Given the description of an element on the screen output the (x, y) to click on. 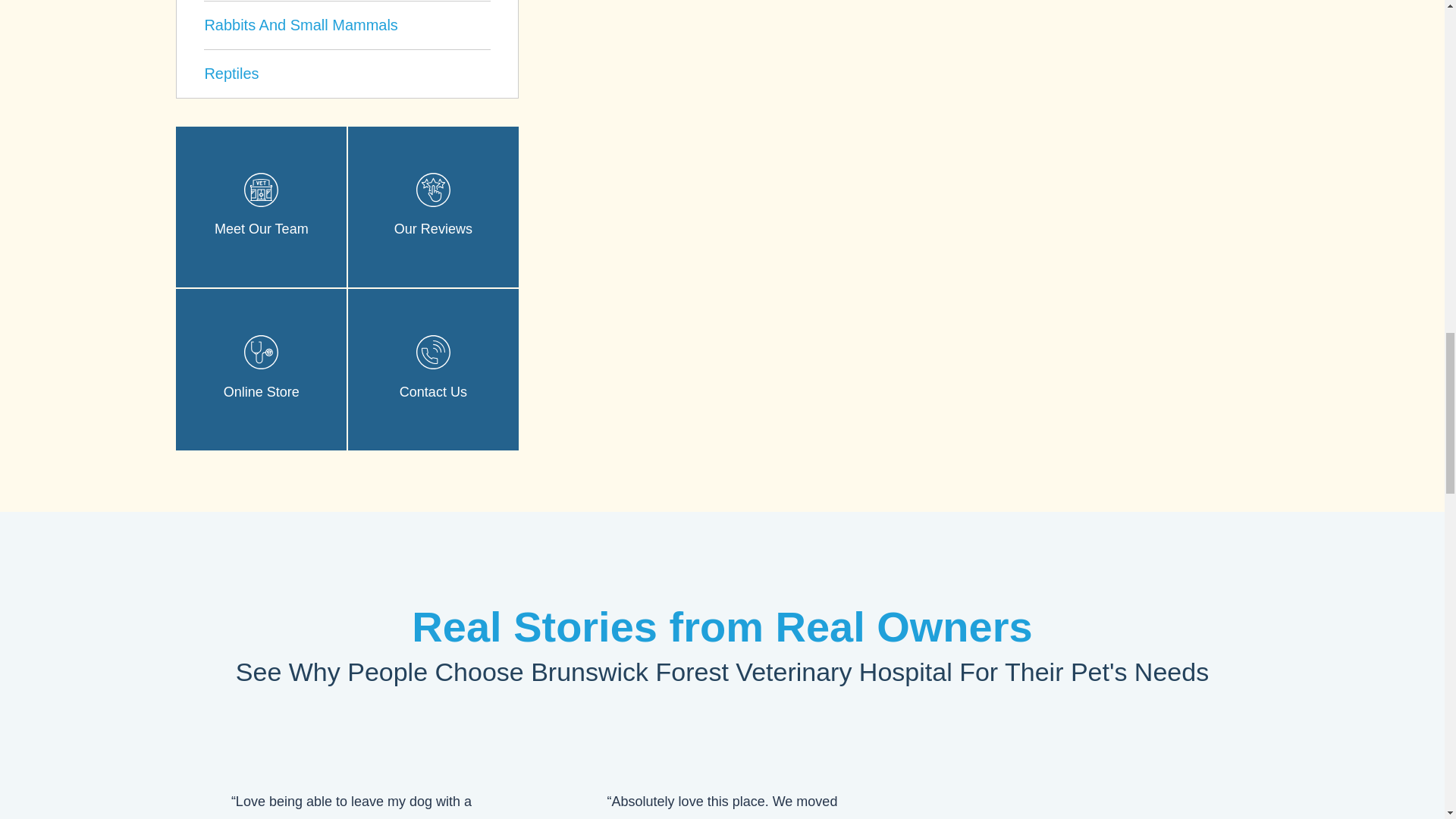
Meet Our Team (261, 189)
Online Store (261, 351)
Contact Us (432, 351)
Our Reviews (432, 189)
